Given the description of an element on the screen output the (x, y) to click on. 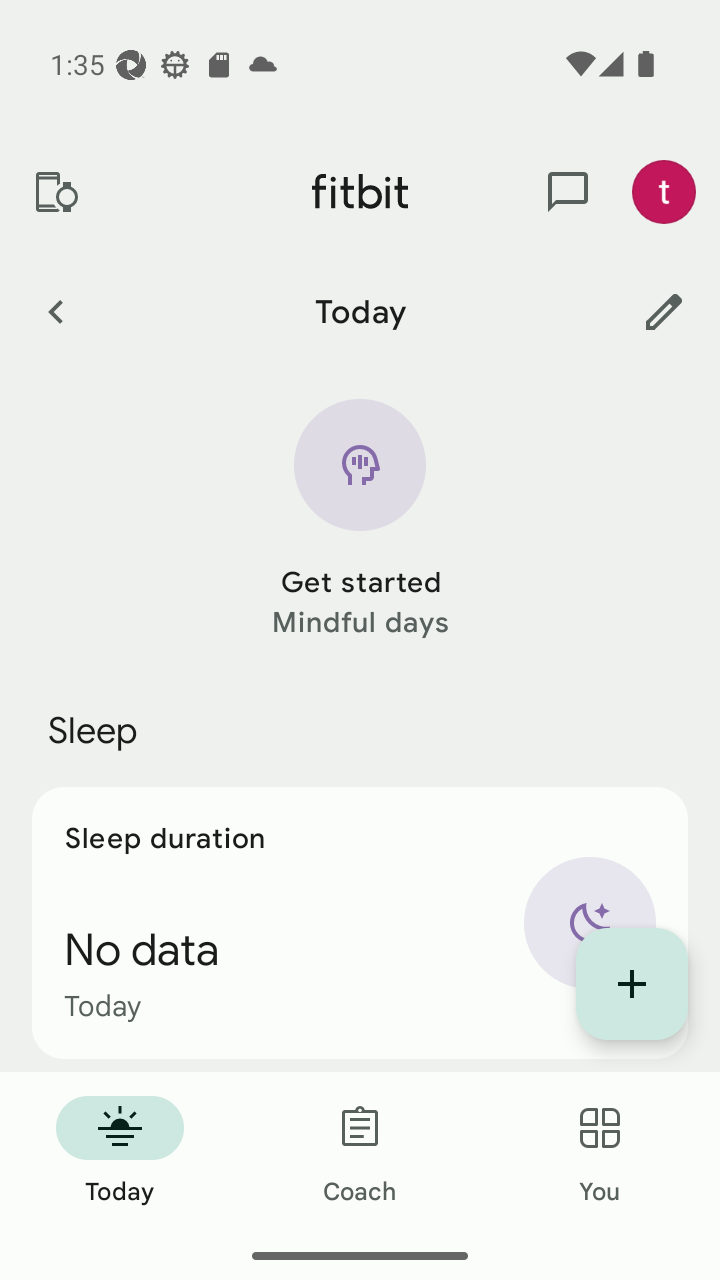
Devices and apps (55, 191)
messages and notifications (567, 191)
Previous Day (55, 311)
Customize (664, 311)
Mindfulness icon Get started Mindful days (360, 520)
Sleep duration No data Today Sleep static arc (359, 922)
Display list of quick log entries (632, 983)
Coach (359, 1151)
You (600, 1151)
